Given the description of an element on the screen output the (x, y) to click on. 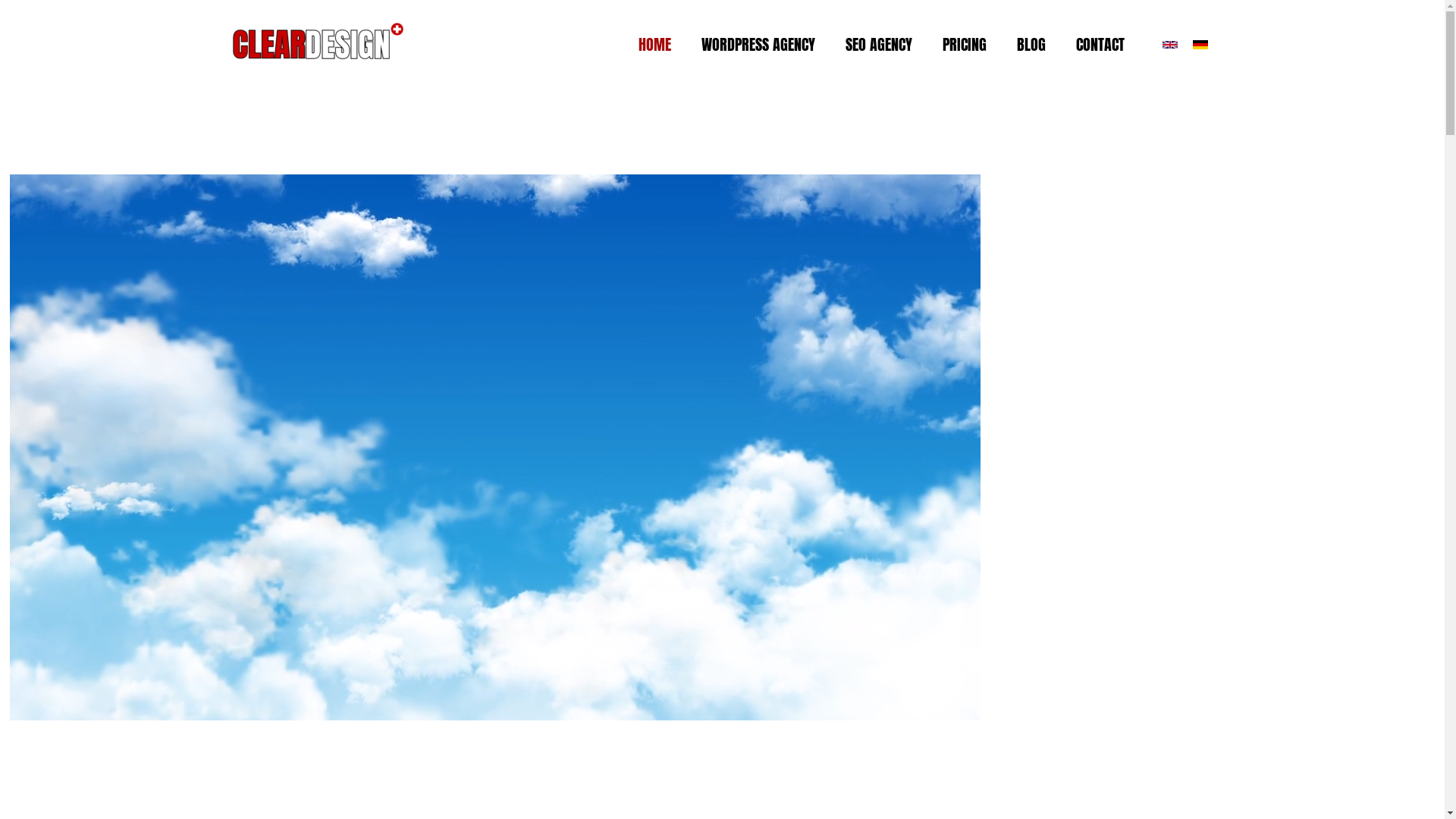
Flag of Germany Element type: text (1199, 43)
SEO AGENCY Element type: text (877, 44)
HOME Element type: text (654, 44)
CONTACT Element type: text (1099, 44)
PRICING Element type: text (963, 44)
WORDPRESS AGENCY Element type: text (757, 44)
BLOG Element type: text (1030, 44)
